Given the description of an element on the screen output the (x, y) to click on. 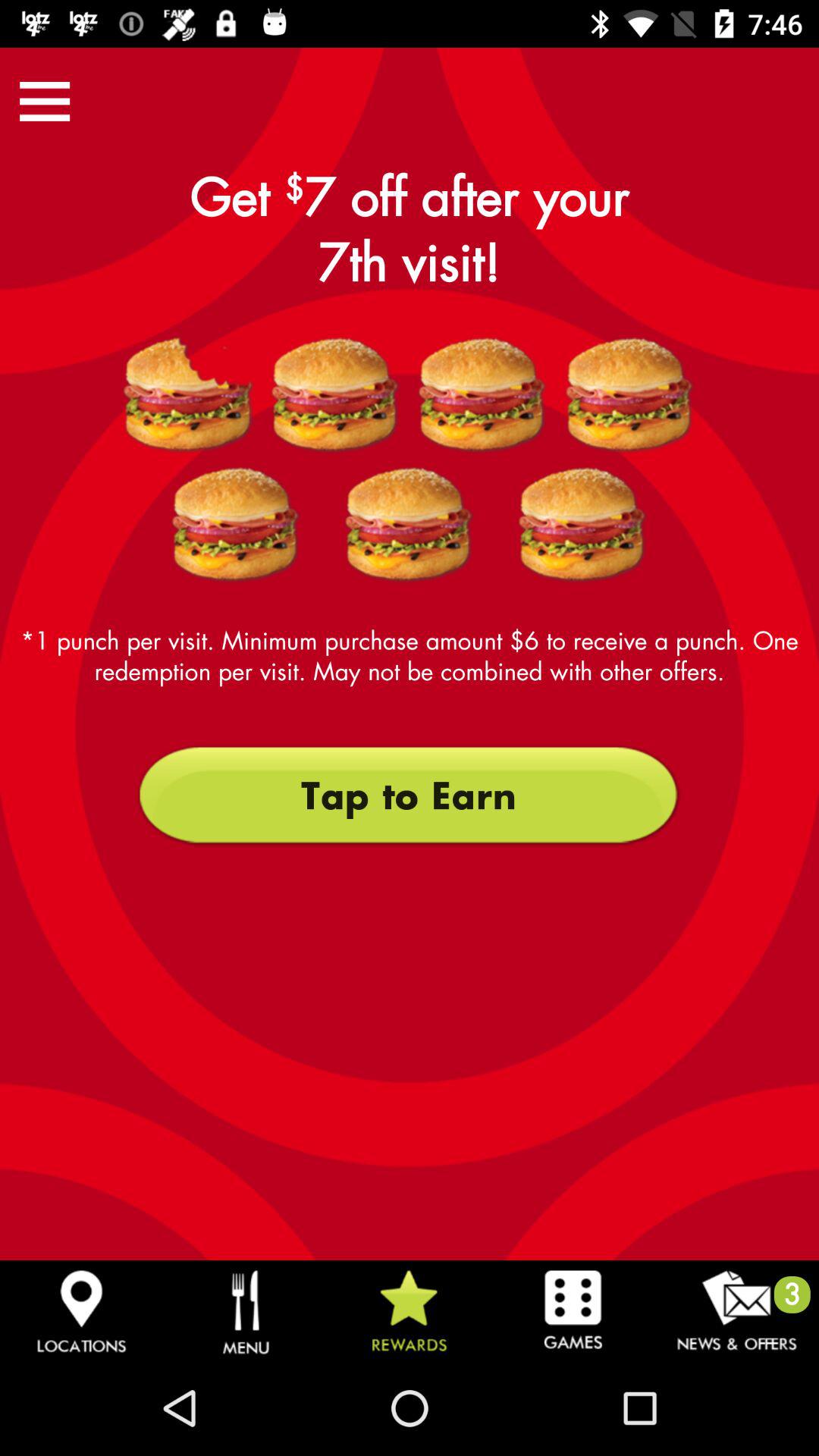
go to menu options (44, 101)
